Given the description of an element on the screen output the (x, y) to click on. 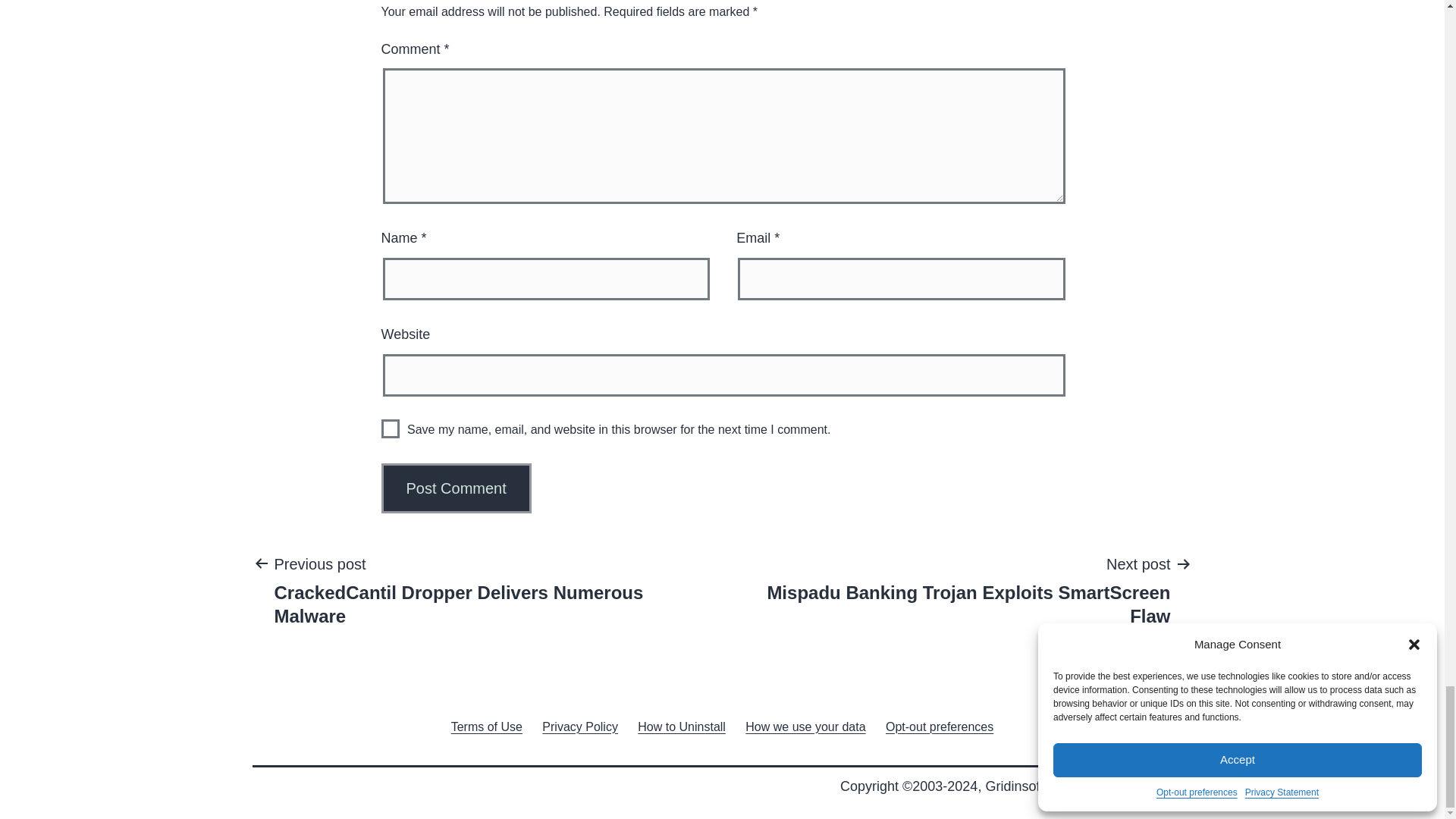
Post Comment (455, 488)
yes (389, 428)
